Given the description of an element on the screen output the (x, y) to click on. 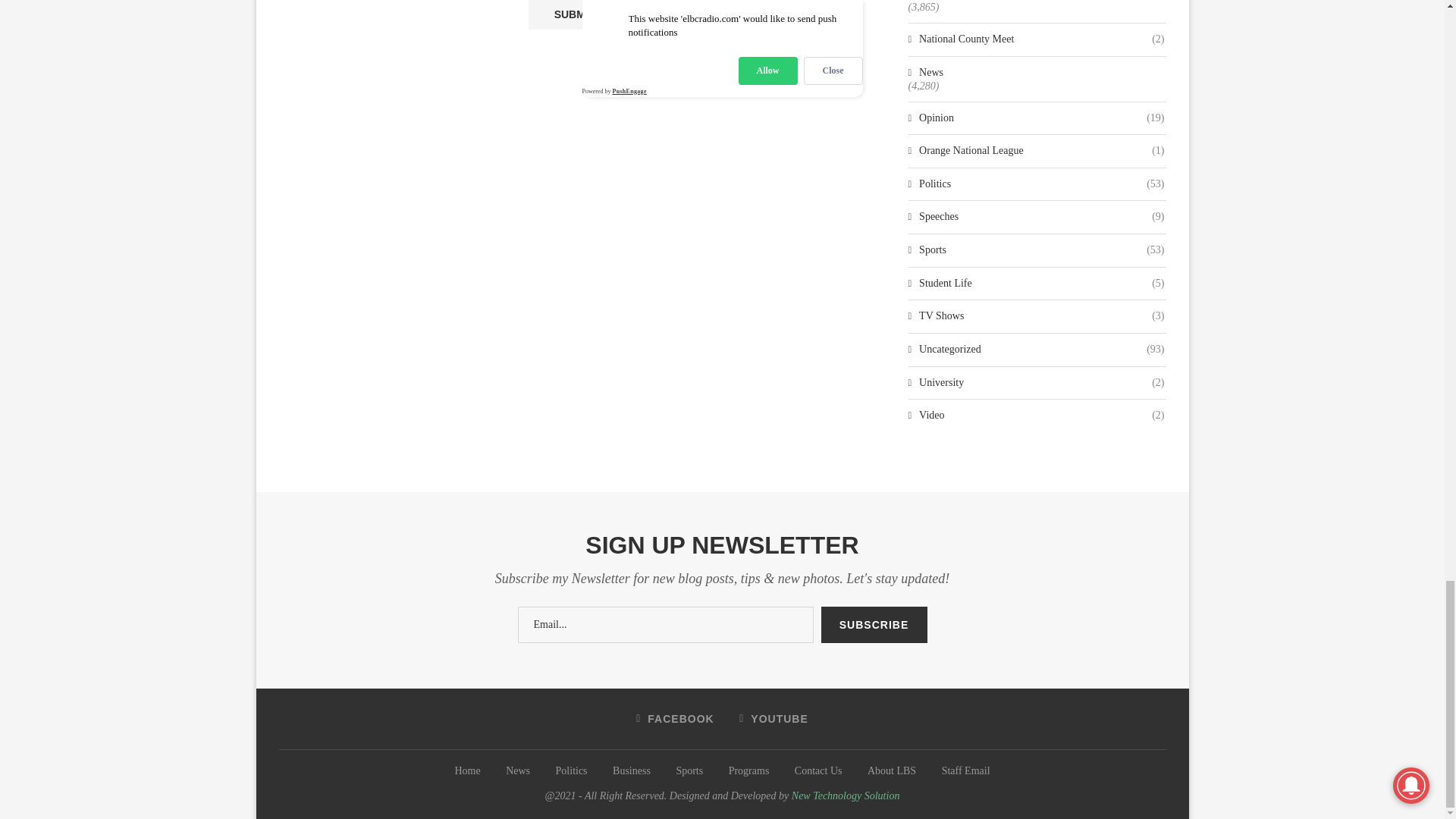
Subscribe (873, 624)
Submit (574, 14)
